Given the description of an element on the screen output the (x, y) to click on. 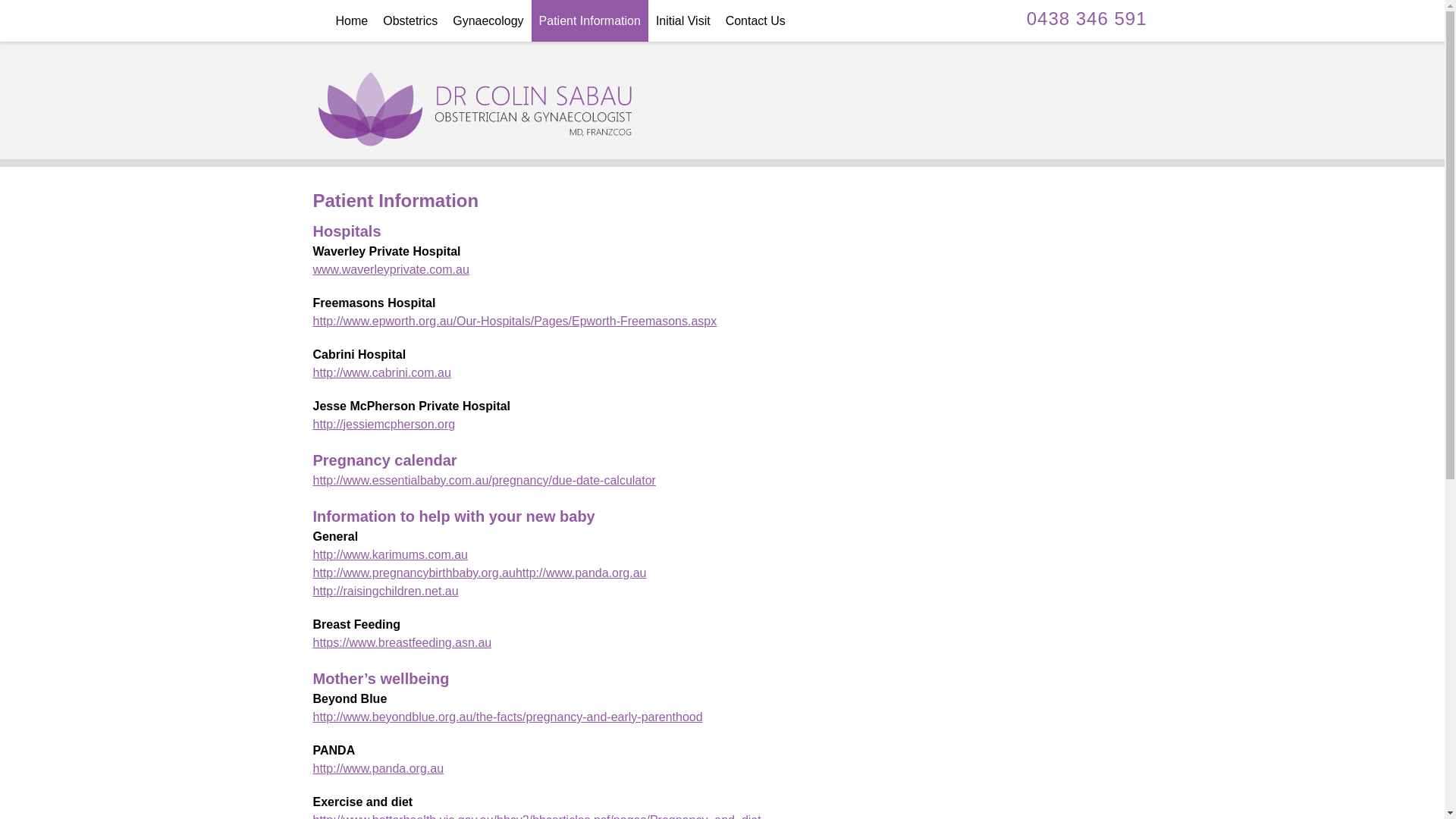
http://www.cabrini.com.au Element type: text (381, 372)
Home Element type: text (351, 20)
http://www.karimums.com.au Element type: text (389, 554)
https://www.breastfeeding.asn.au Element type: text (401, 642)
Patient Information Element type: text (589, 20)
http://raisingchildren.net.au Element type: text (385, 590)
www.waverleyprivate.com.au Element type: text (390, 269)
Gynaecology Element type: text (487, 20)
Contact Us Element type: text (755, 20)
Obstetrics Element type: text (410, 20)
Initial Visit Element type: text (683, 20)
http://www.panda.org.au Element type: text (377, 768)
http://www.pregnancybirthbaby.org.auhttp://www.panda.org.au Element type: text (479, 572)
http://jessiemcpherson.org Element type: text (383, 423)
